Given the description of an element on the screen output the (x, y) to click on. 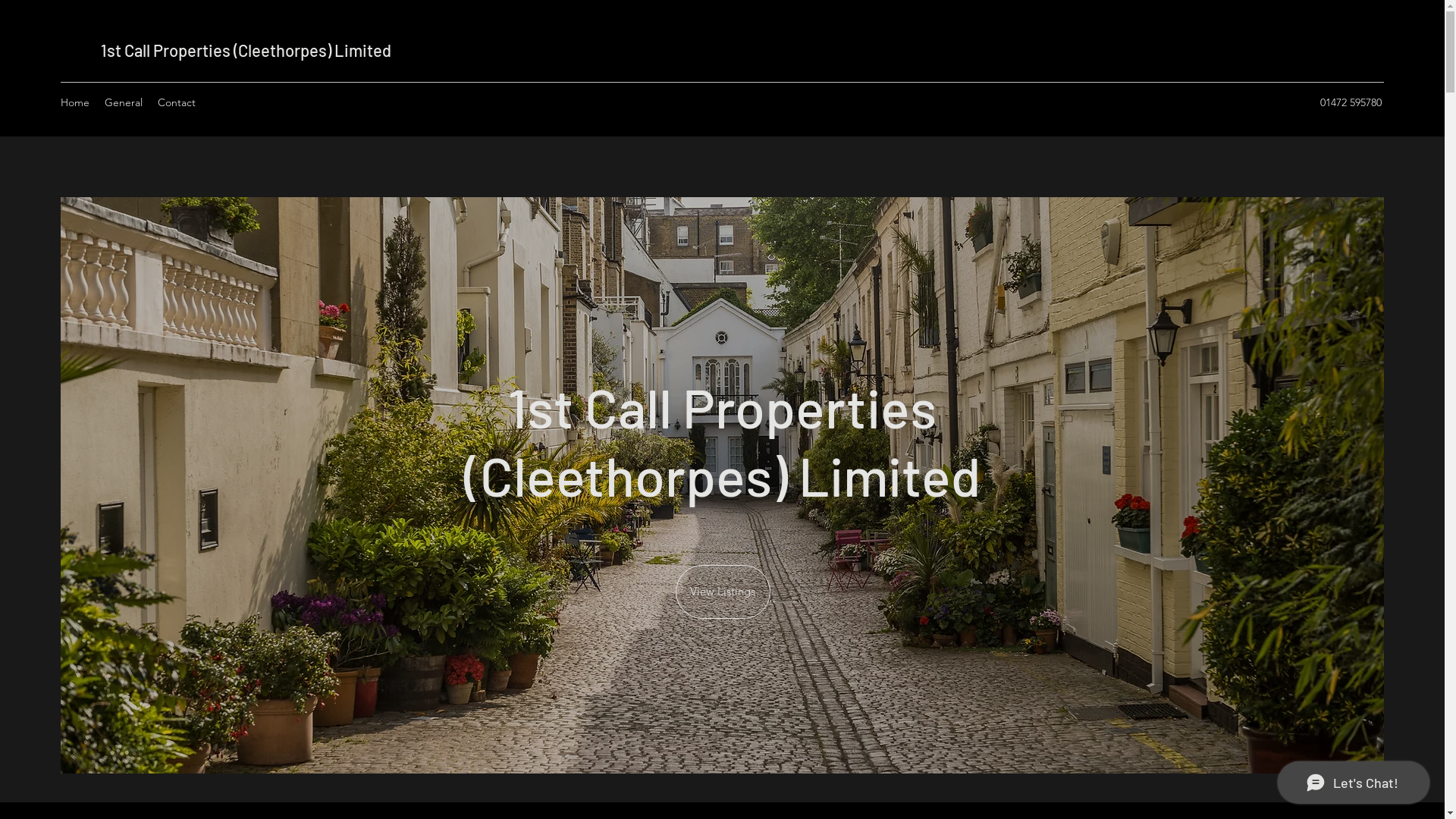
General Element type: text (123, 102)
Home Element type: text (75, 102)
View Listings Element type: text (721, 591)
Contact Element type: text (176, 102)
1st Call Properties (Cleethorpes) Limited Element type: text (245, 49)
